Given the description of an element on the screen output the (x, y) to click on. 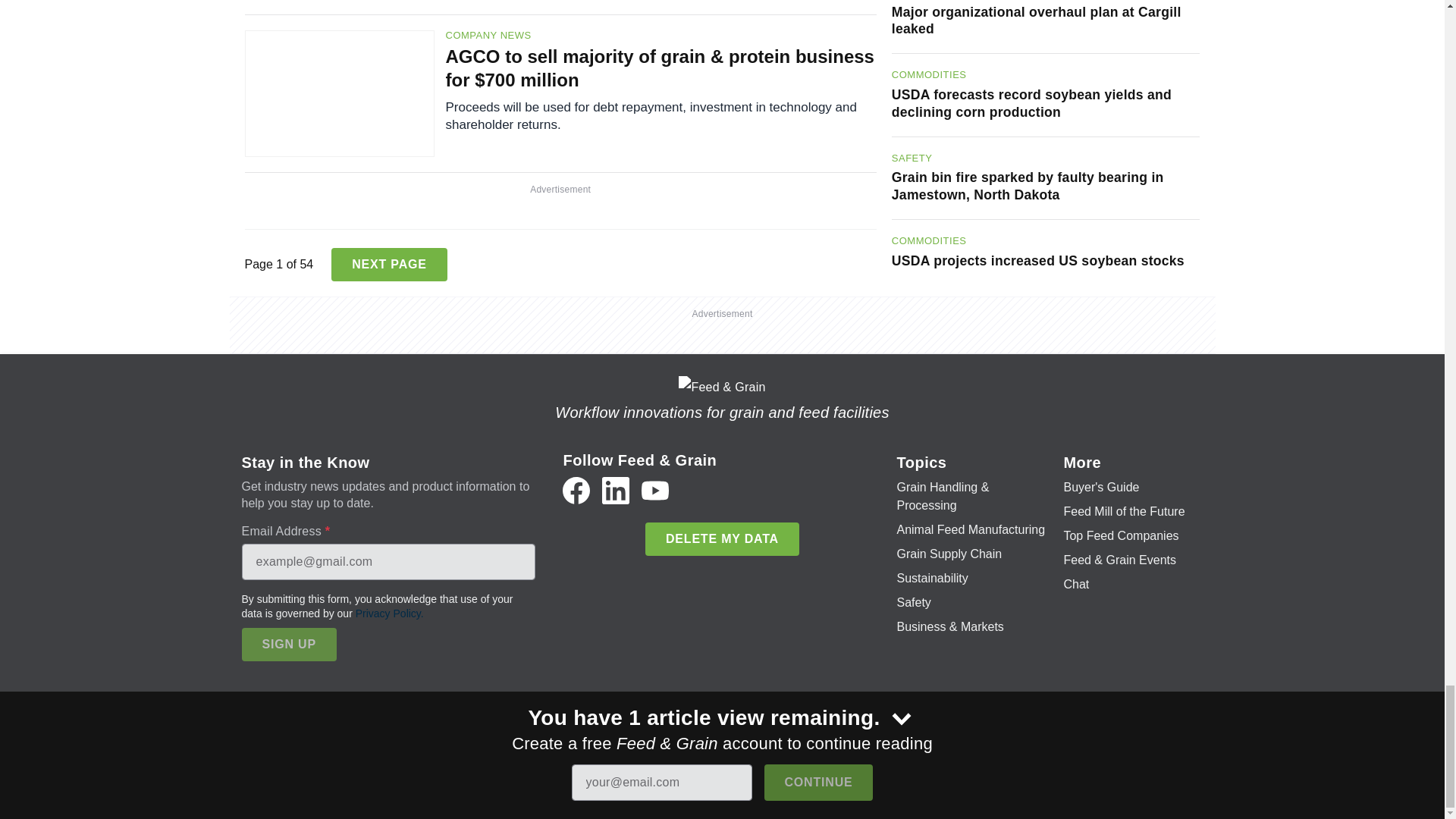
LinkedIn icon (615, 490)
YouTube icon (655, 490)
Facebook icon (575, 490)
